Given the description of an element on the screen output the (x, y) to click on. 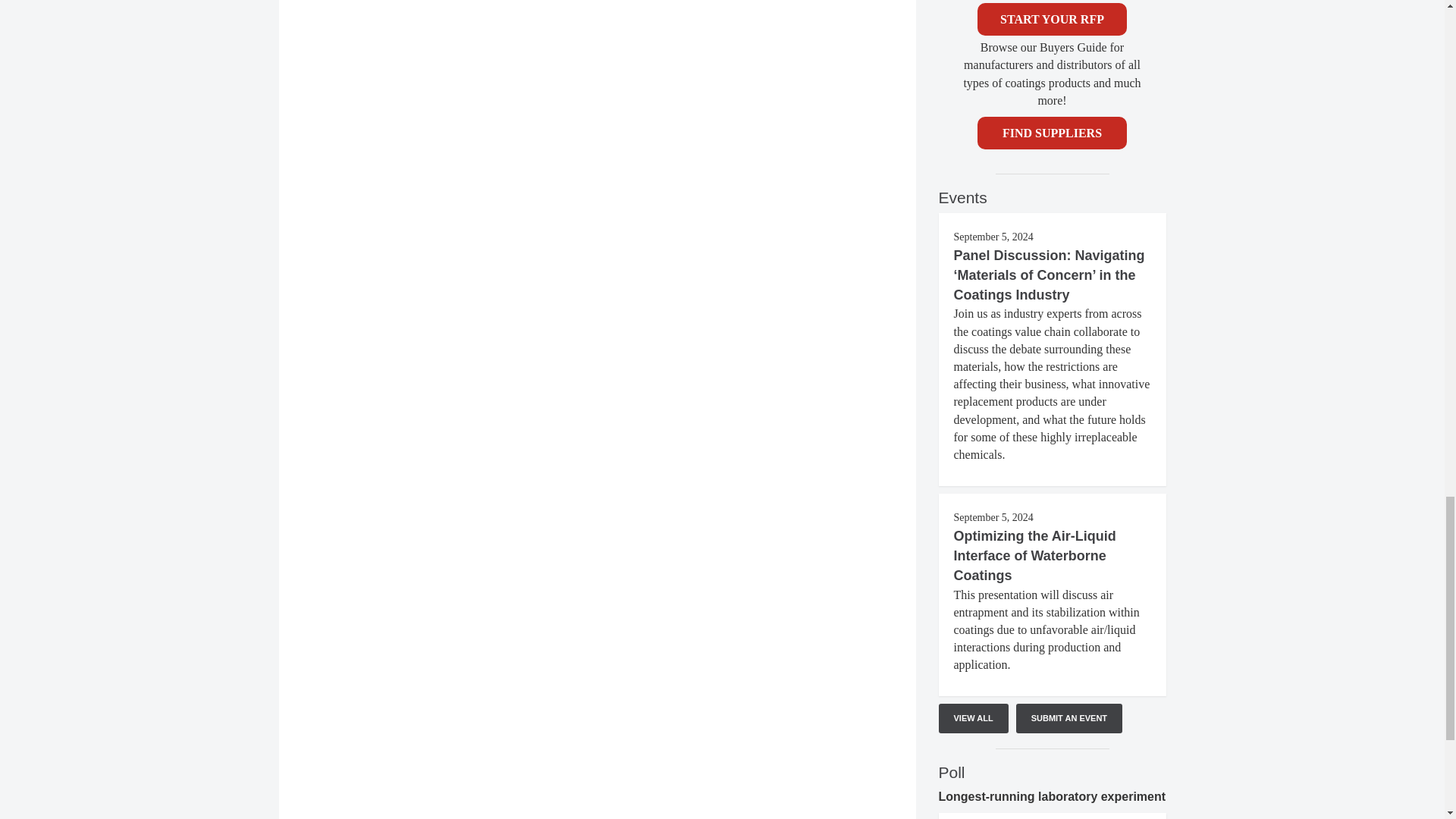
Optimizing the Air-Liquid Interface of Waterborne Coatings (1034, 555)
